Given the description of an element on the screen output the (x, y) to click on. 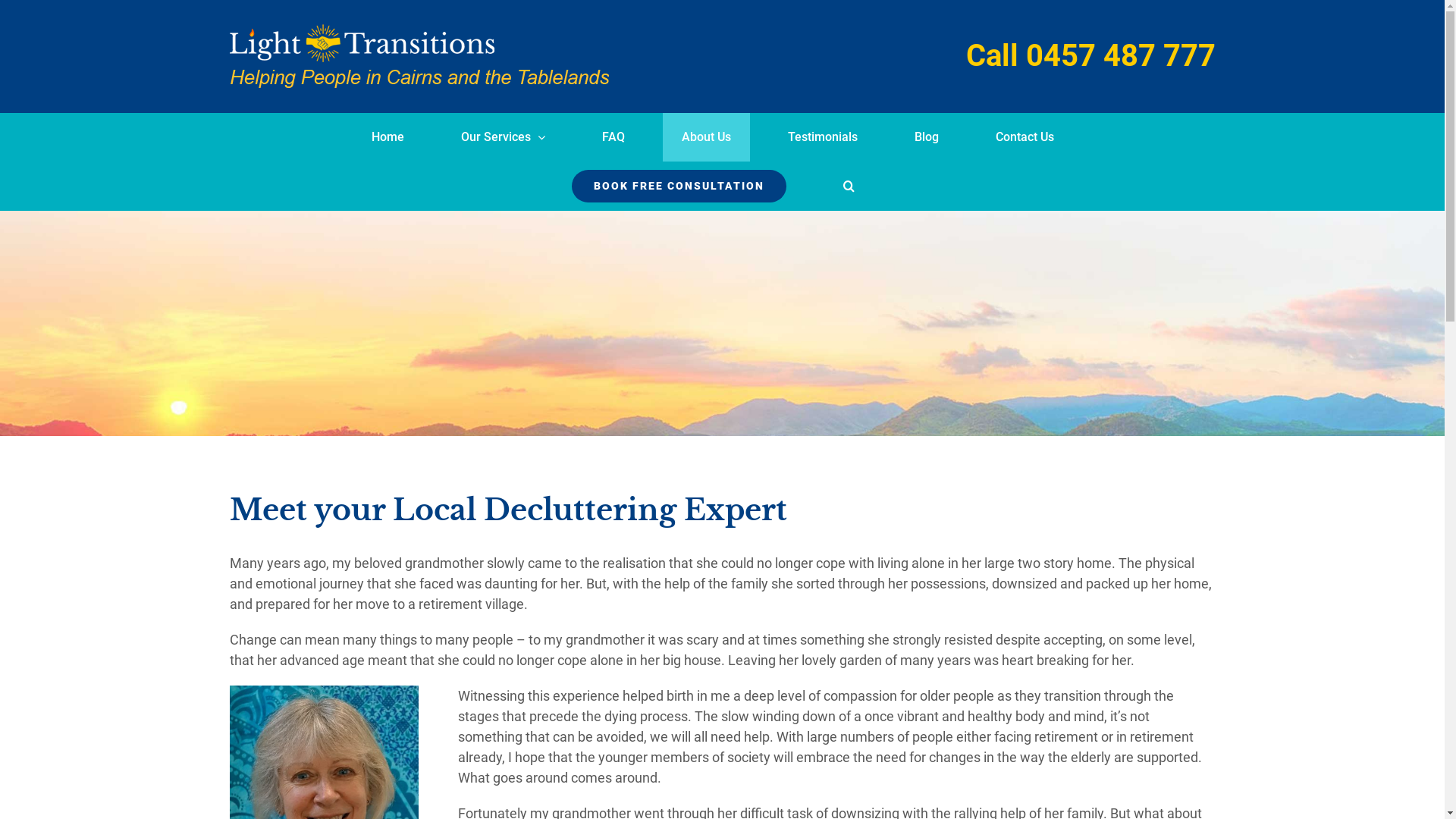
Testimonials Element type: text (822, 136)
Our Services Element type: text (503, 136)
Blog Element type: text (926, 136)
Search Element type: hover (847, 185)
About Us Element type: text (705, 136)
FAQ Element type: text (613, 136)
BOOK FREE CONSULTATION Element type: text (678, 185)
Home Element type: text (387, 136)
Contact Us Element type: text (1024, 136)
